Given the description of an element on the screen output the (x, y) to click on. 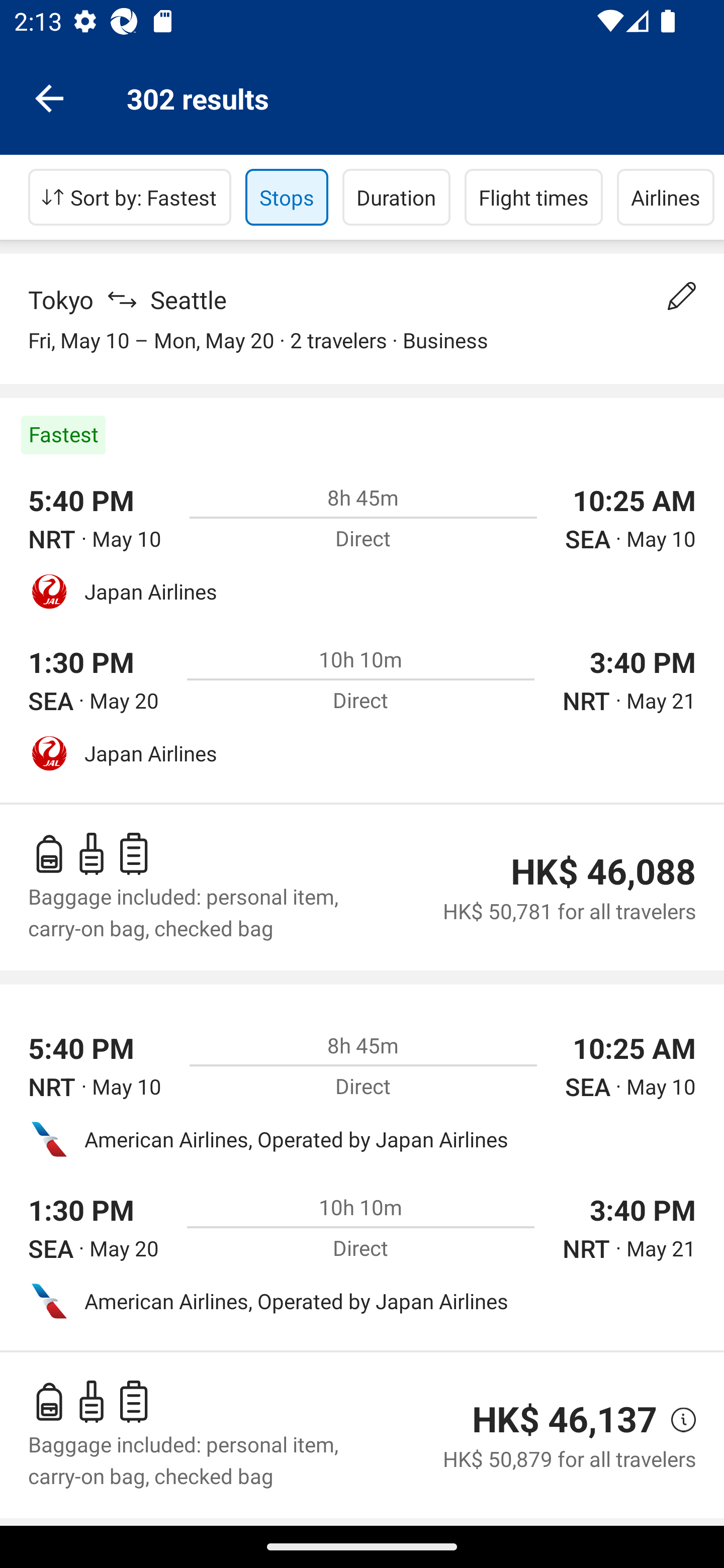
Navigate up (49, 97)
Sort by: Fastest (129, 197)
Stops (286, 197)
Duration (396, 197)
Flight times (533, 197)
Airlines (665, 197)
Change your search details (681, 296)
HK$ 46,088 (603, 871)
HK$ 46,137 (564, 1419)
view price details, opens a pop-up (676, 1419)
